Given the description of an element on the screen output the (x, y) to click on. 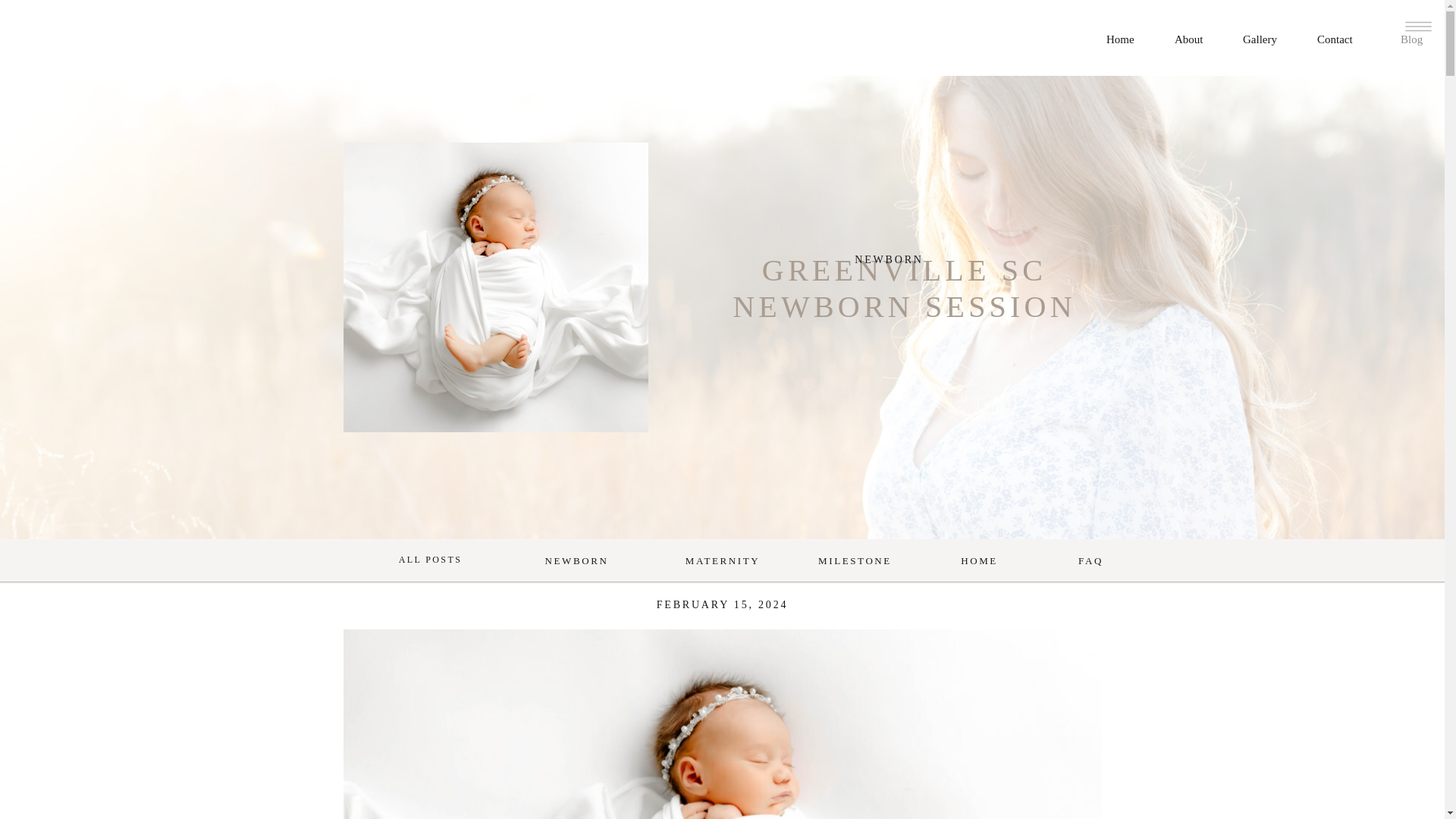
Contact (1342, 37)
MATERNITY (722, 562)
About (1194, 37)
Home (1125, 37)
NEWBORN (888, 259)
FAQ (1090, 562)
HOME (979, 562)
ALL POSTS (429, 562)
NEWBORN (576, 562)
MILESTONE (855, 562)
